Given the description of an element on the screen output the (x, y) to click on. 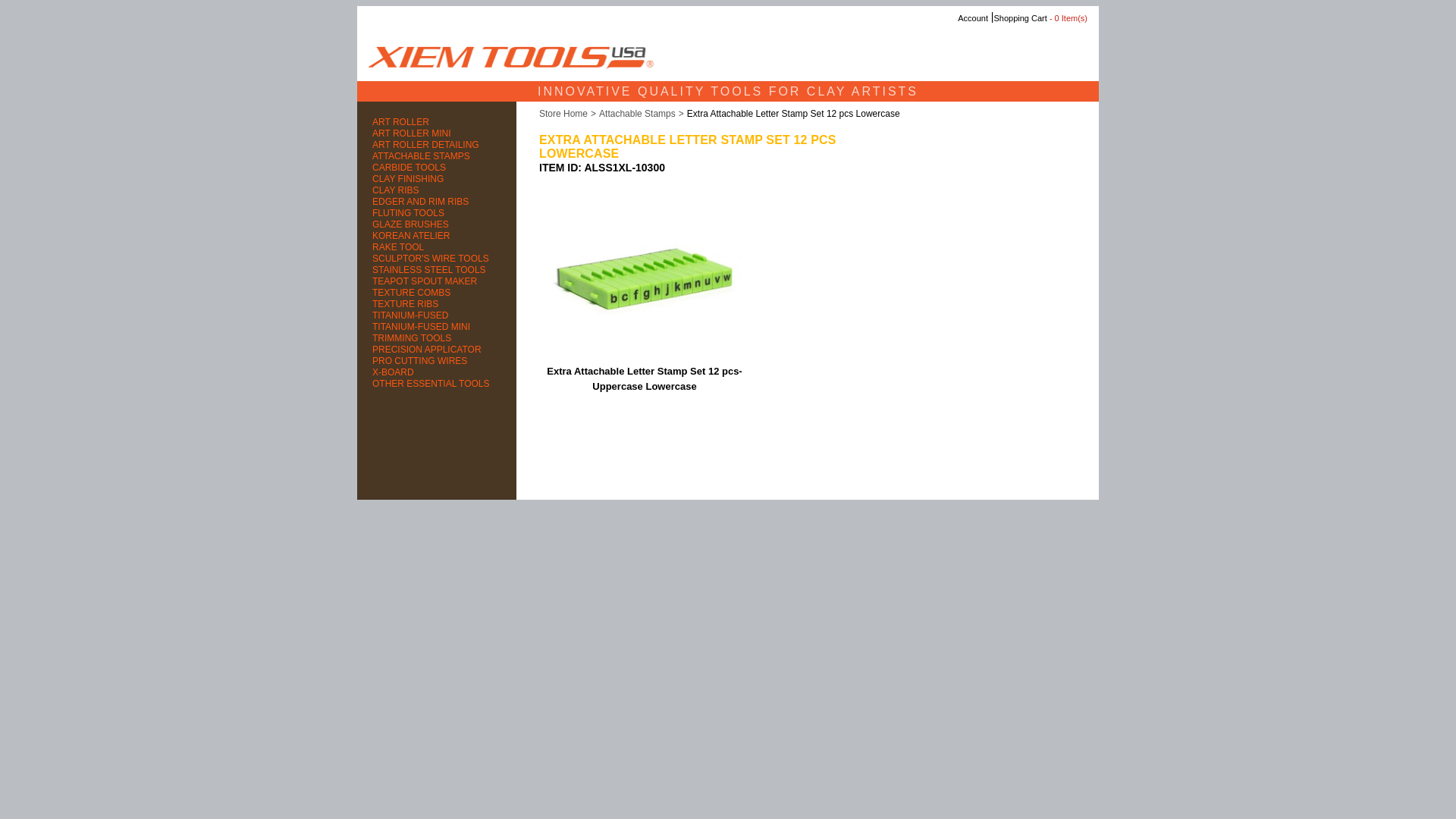
Extra Attachable Letter Stamp Set 12 pcs Lowercase (793, 113)
ART ROLLER (436, 122)
Store Home (563, 113)
TITANIUM-FUSED (436, 315)
ART ROLLER MINI (436, 133)
GLAZE BRUSHES (436, 224)
Account (973, 18)
RAKE TOOL (436, 247)
TRIMMING TOOLS (436, 337)
CARBIDE TOOLS (436, 167)
TEXTURE COMBS (436, 292)
ART ROLLER DETAILING (436, 144)
X-BOARD (436, 372)
OTHER ESSENTIAL TOOLS (436, 383)
CLAY RIBS (436, 190)
